Given the description of an element on the screen output the (x, y) to click on. 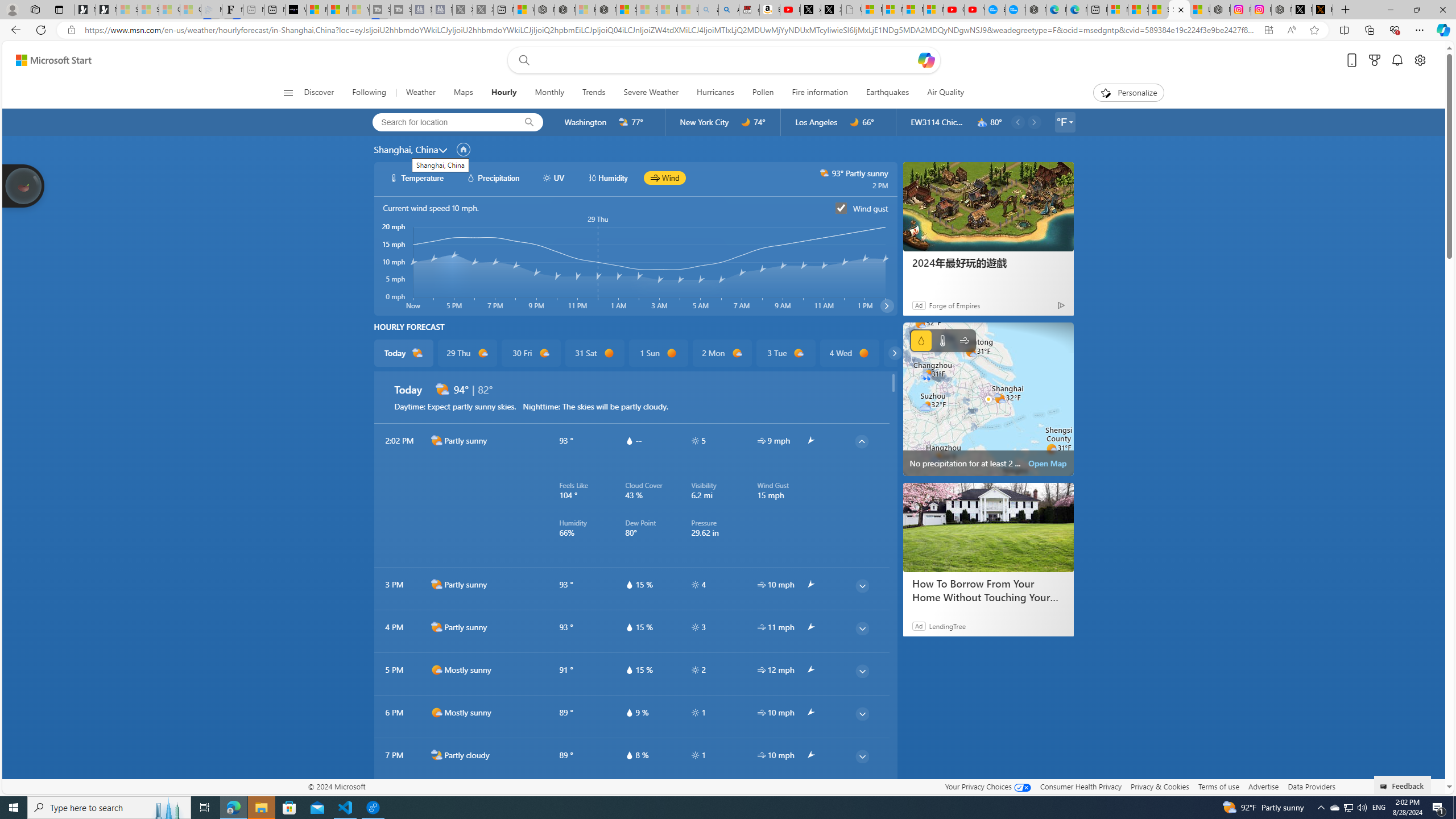
YouTube Kids - An App Created for Kids to Explore Content (974, 9)
Join us in planting real trees to help our planet! (23, 184)
Your Privacy Choices (987, 785)
Personalize (1128, 92)
